Given the description of an element on the screen output the (x, y) to click on. 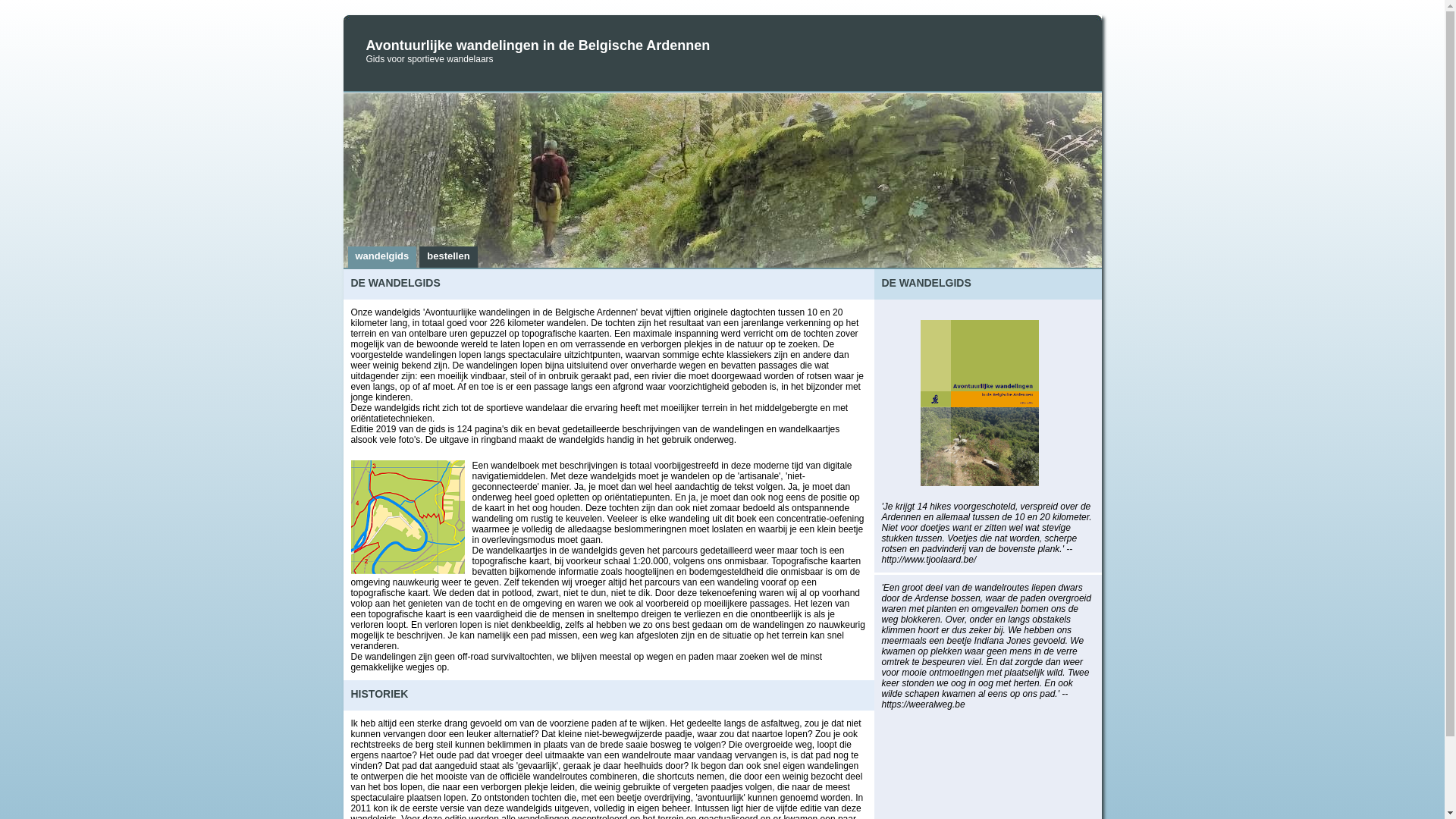
bestellen Element type: text (447, 256)
neem een kijkje Element type: hover (959, 396)
wandelgids Element type: text (381, 256)
